Given the description of an element on the screen output the (x, y) to click on. 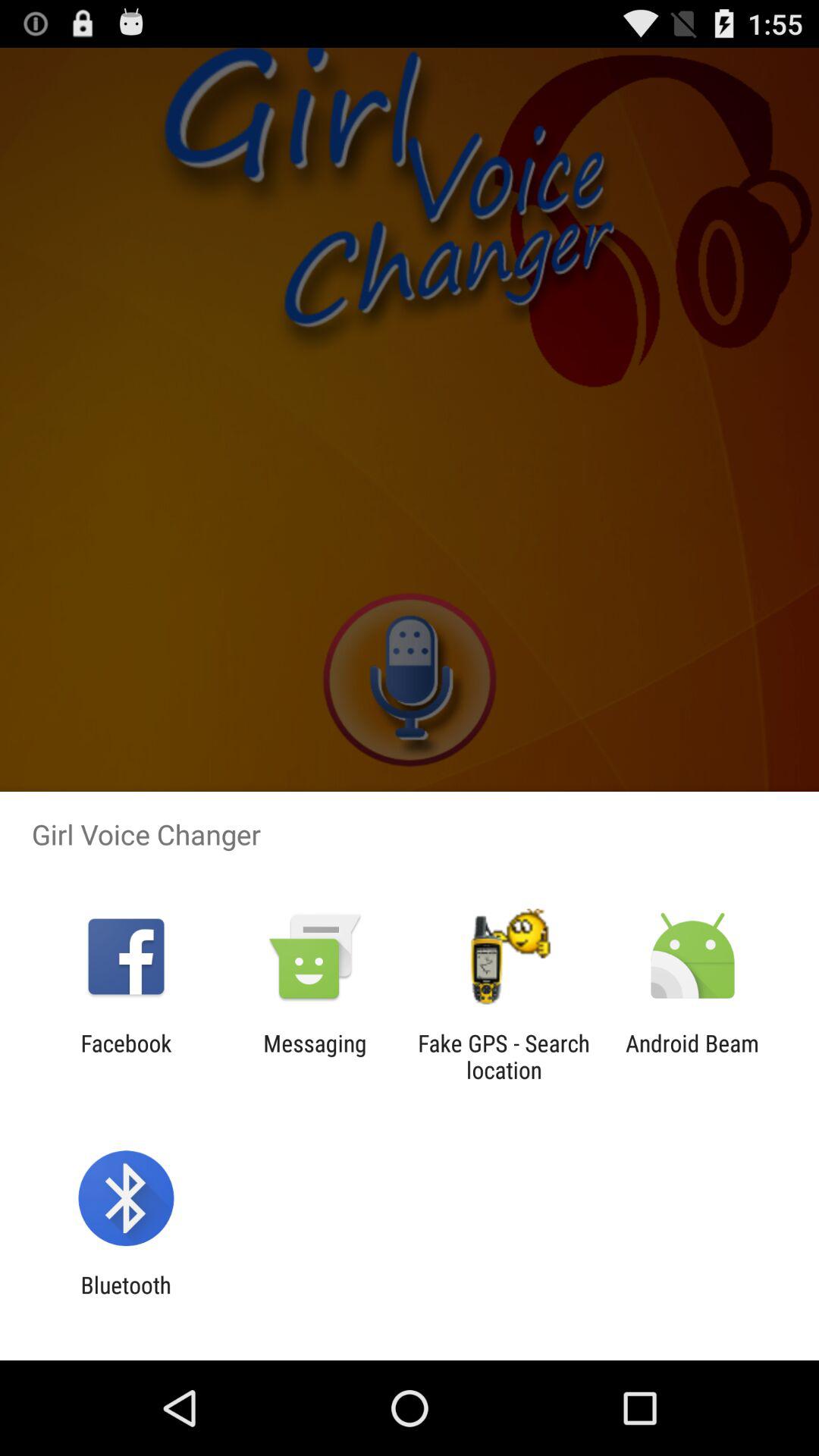
launch facebook app (125, 1056)
